Given the description of an element on the screen output the (x, y) to click on. 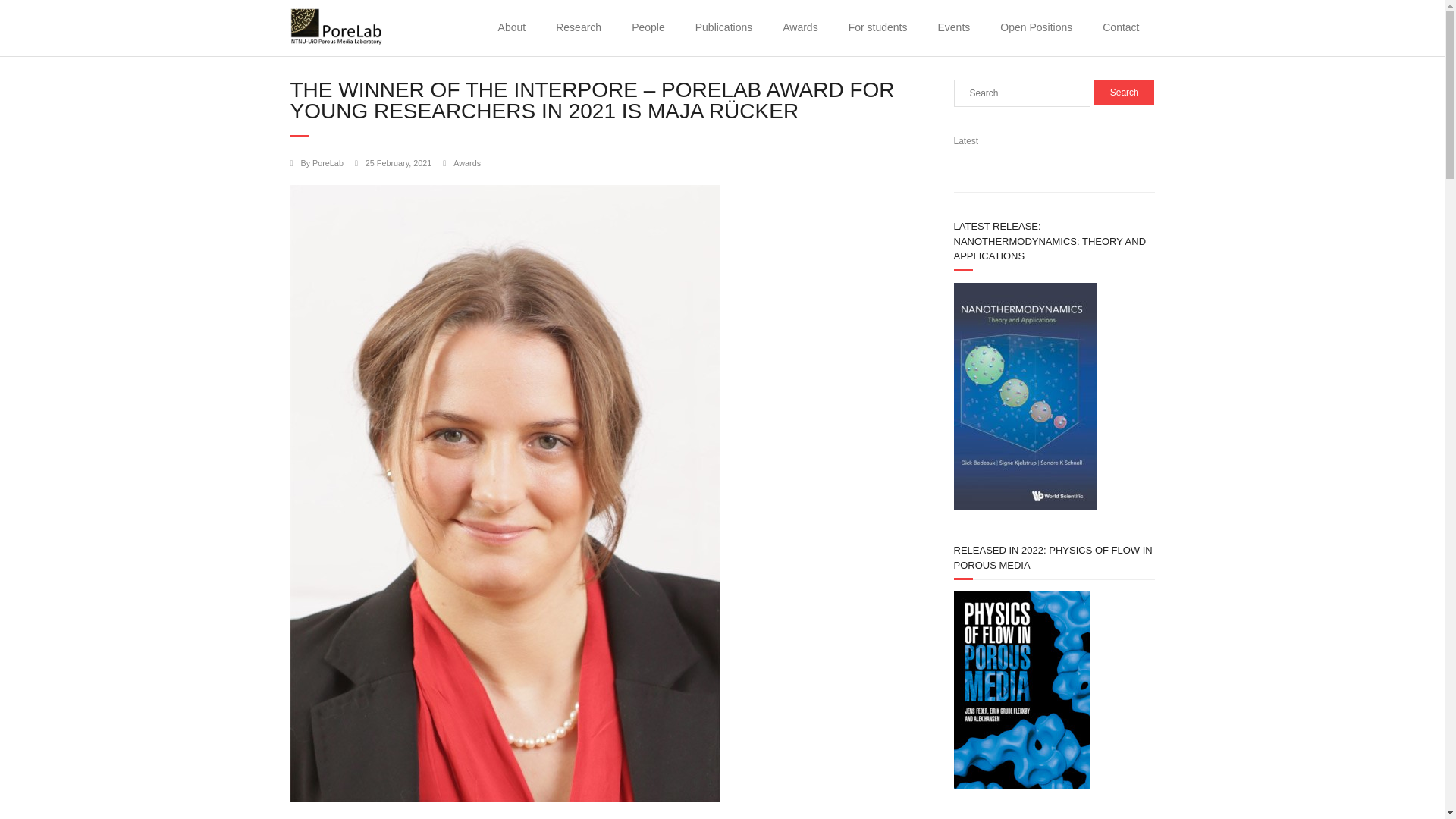
For students (877, 28)
Events (953, 28)
Search (1124, 92)
Publications (723, 28)
Open Positions (1036, 28)
About (512, 28)
Search (1124, 92)
Research (577, 28)
Contact (1120, 28)
People (647, 28)
View all posts by PoreLab (328, 162)
Awards (799, 28)
